Given the description of an element on the screen output the (x, y) to click on. 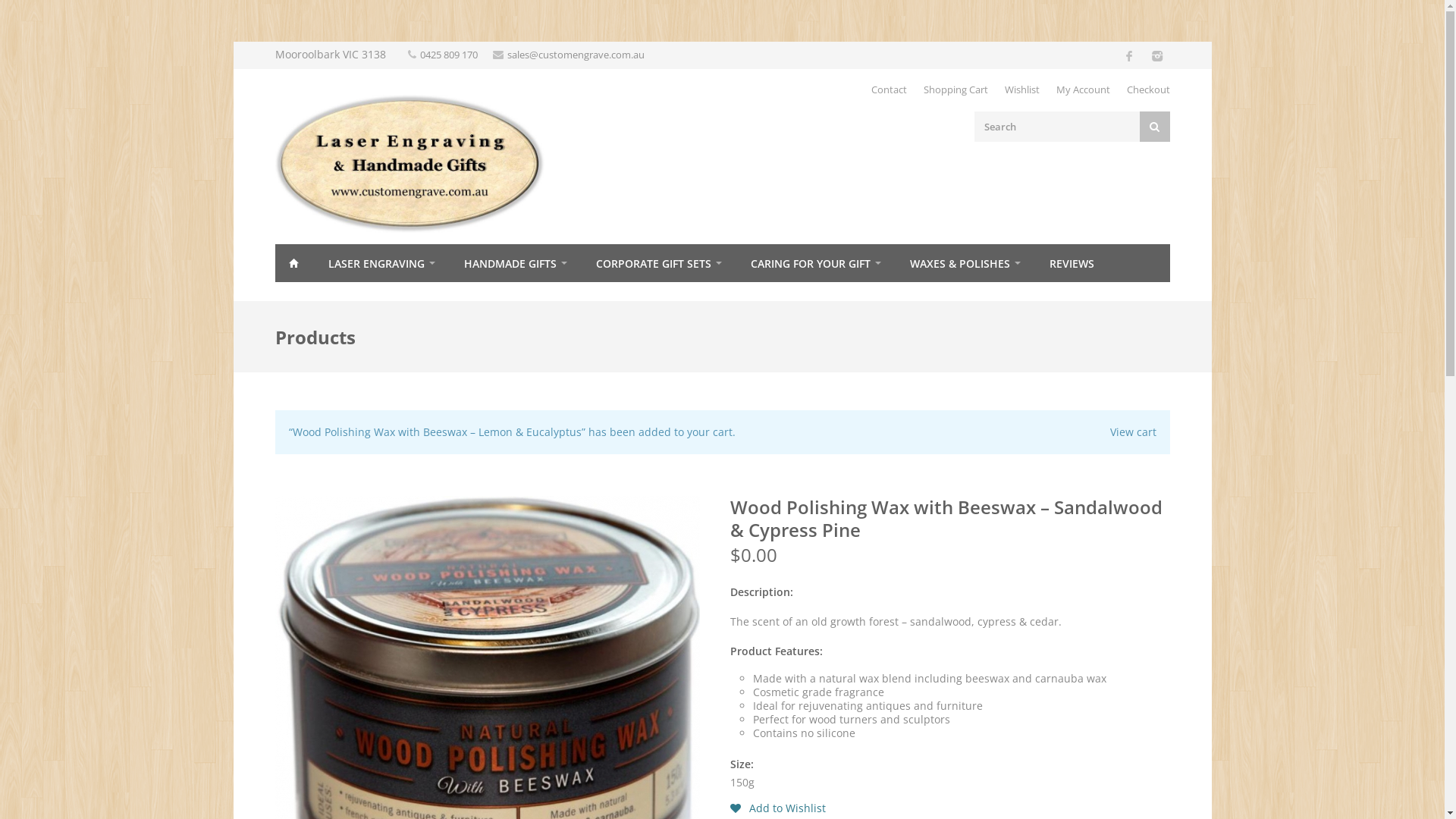
View cart Element type: text (1133, 432)
HANDMADE GIFTS Element type: text (514, 263)
Contact Element type: text (888, 89)
WAXES & POLISHES Element type: text (964, 263)
CARING FOR YOUR GIFT Element type: text (814, 263)
My Account Element type: text (1082, 89)
REVIEWS Element type: text (1071, 263)
sales@customengrave.com.au Element type: text (574, 54)
LASER ENGRAVING Element type: text (380, 263)
CORPORATE GIFT SETS Element type: text (657, 263)
HOME Element type: text (293, 263)
Instagram Element type: hover (1155, 55)
Skip to content Element type: text (232, 40)
Add to Wishlist Element type: text (777, 808)
Wishlist Element type: text (1021, 89)
Facebook Element type: hover (1128, 55)
Checkout Element type: text (1148, 89)
Shopping Cart Element type: text (955, 89)
